Given the description of an element on the screen output the (x, y) to click on. 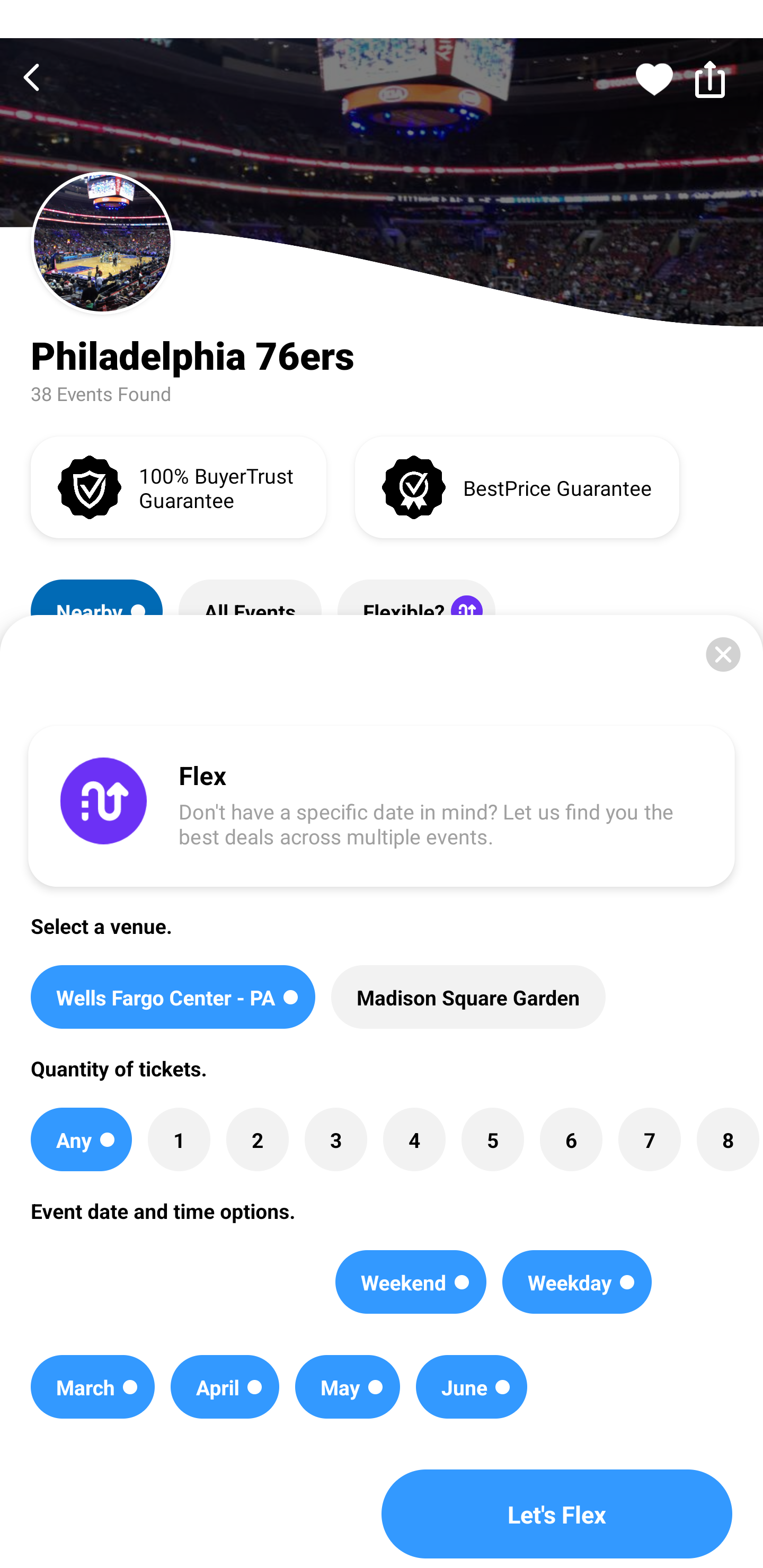
Wells Fargo Center - PA (172, 996)
Madison Square Garden (468, 996)
Any (80, 1139)
1 (179, 1139)
2 (257, 1139)
3 (335, 1139)
4 (414, 1139)
5 (492, 1139)
6 (571, 1139)
7 (649, 1139)
8 (727, 1139)
Weekend (410, 1281)
Weekday (576, 1281)
March (92, 1386)
April (224, 1386)
May (347, 1386)
June (471, 1386)
Let's Flex (556, 1513)
